Given the description of an element on the screen output the (x, y) to click on. 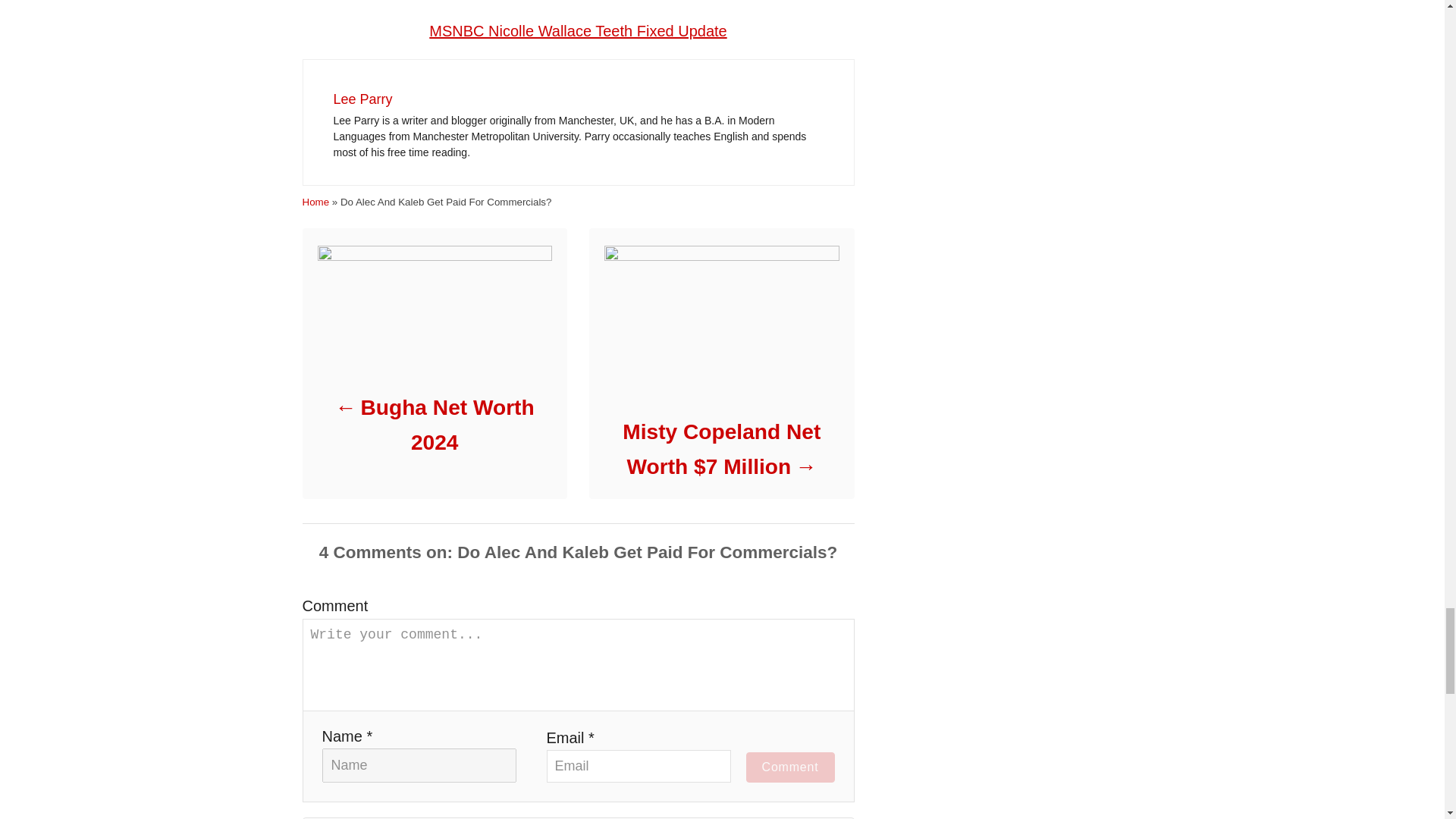
Bugha Net Worth 2024 (434, 424)
Comment (789, 767)
Lee Parry (363, 99)
MSNBC Nicolle Wallace Teeth Fixed Update (577, 30)
Home (315, 202)
